Given the description of an element on the screen output the (x, y) to click on. 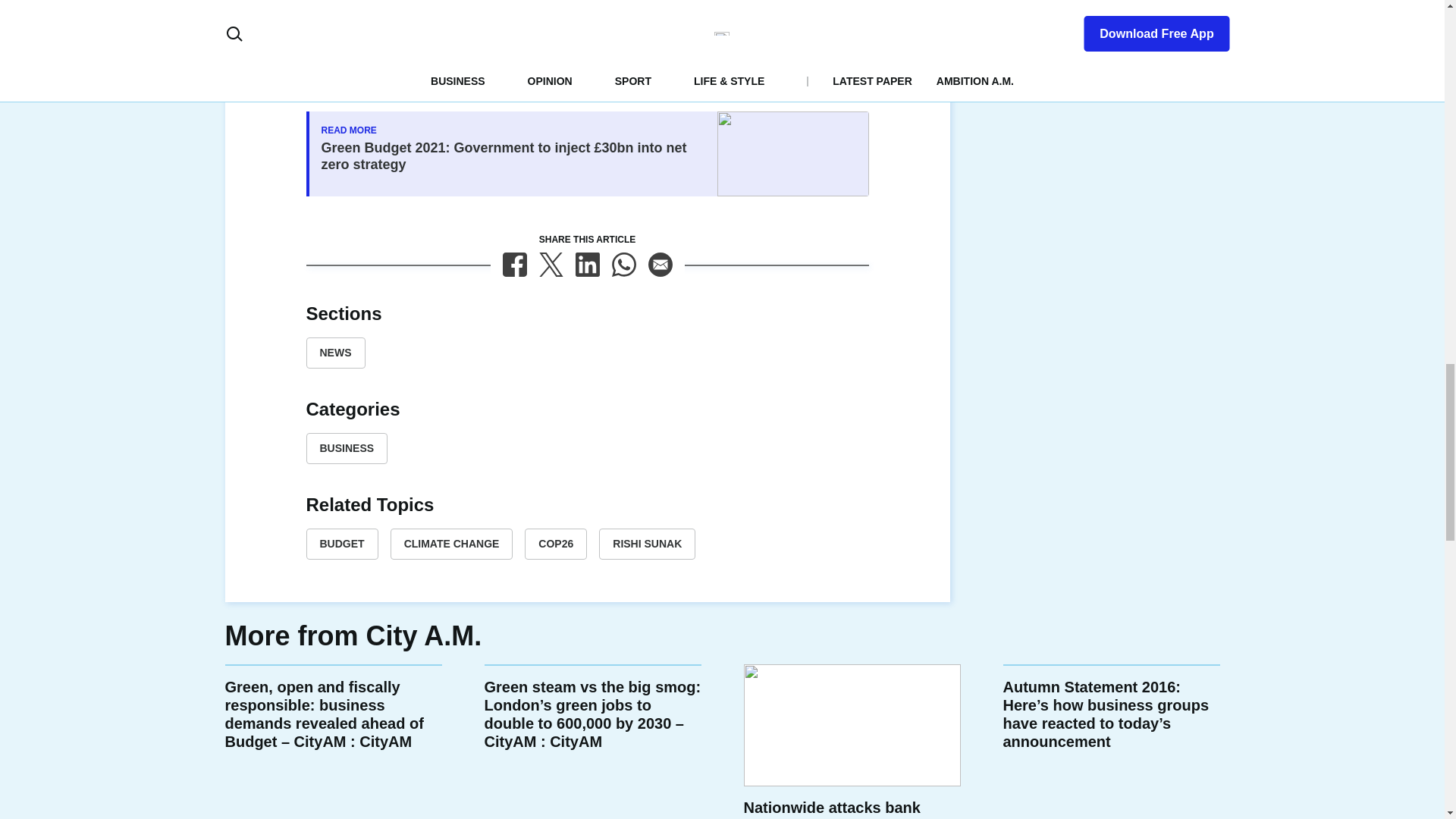
Facebook (513, 264)
WhatsApp (622, 264)
LinkedIn (586, 264)
Email (659, 264)
X (550, 264)
